Given the description of an element on the screen output the (x, y) to click on. 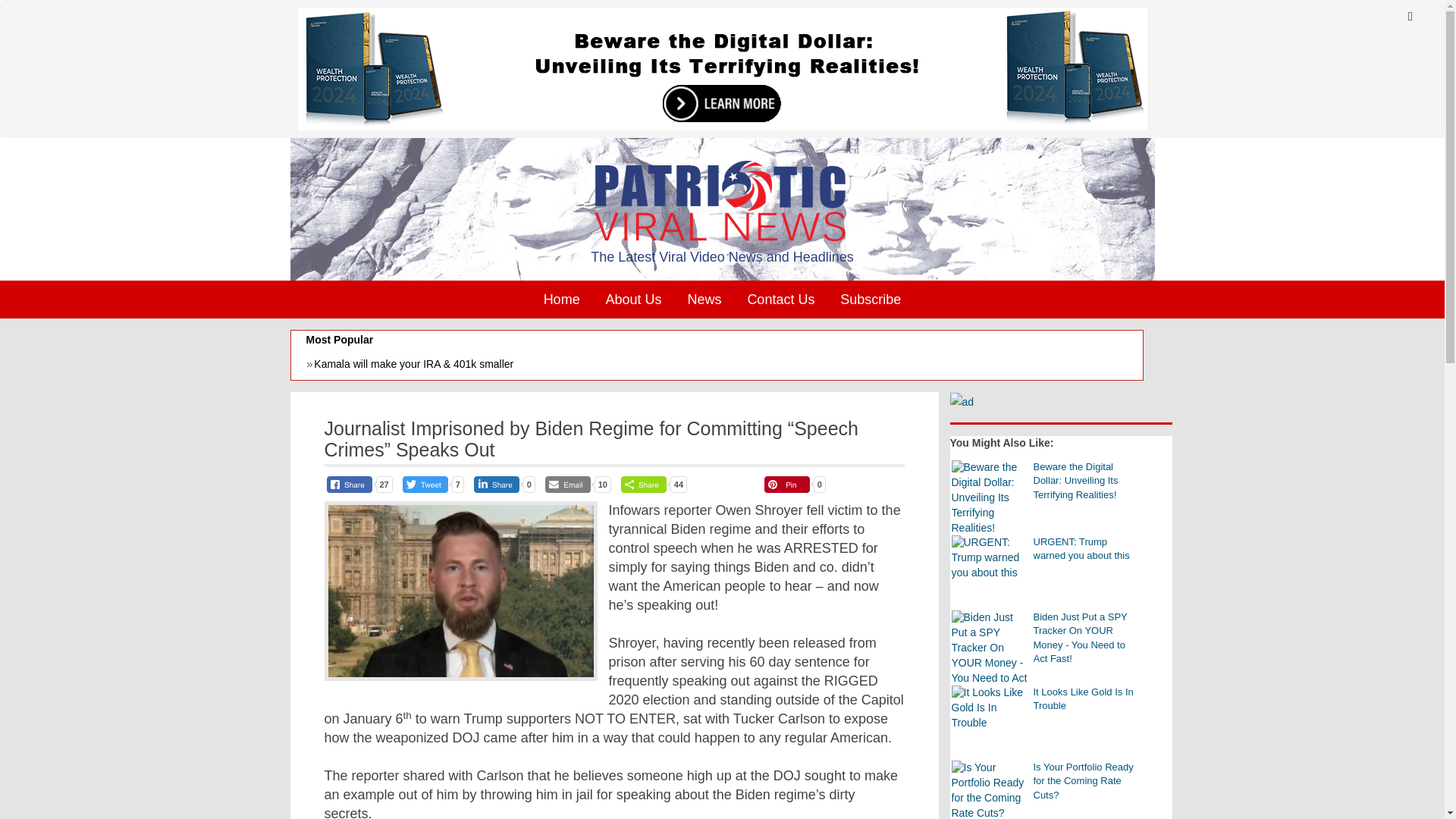
Home (561, 299)
Contact Us (780, 299)
Is Your Portfolio Ready for the Coming Rate Cuts? (988, 789)
URGENT: Trump warned you about this (988, 557)
News (703, 299)
Patriotic Viral News homepage (722, 201)
It Looks Like Gold Is In Trouble (988, 708)
Subscribe (870, 299)
About Us (633, 299)
